Given the description of an element on the screen output the (x, y) to click on. 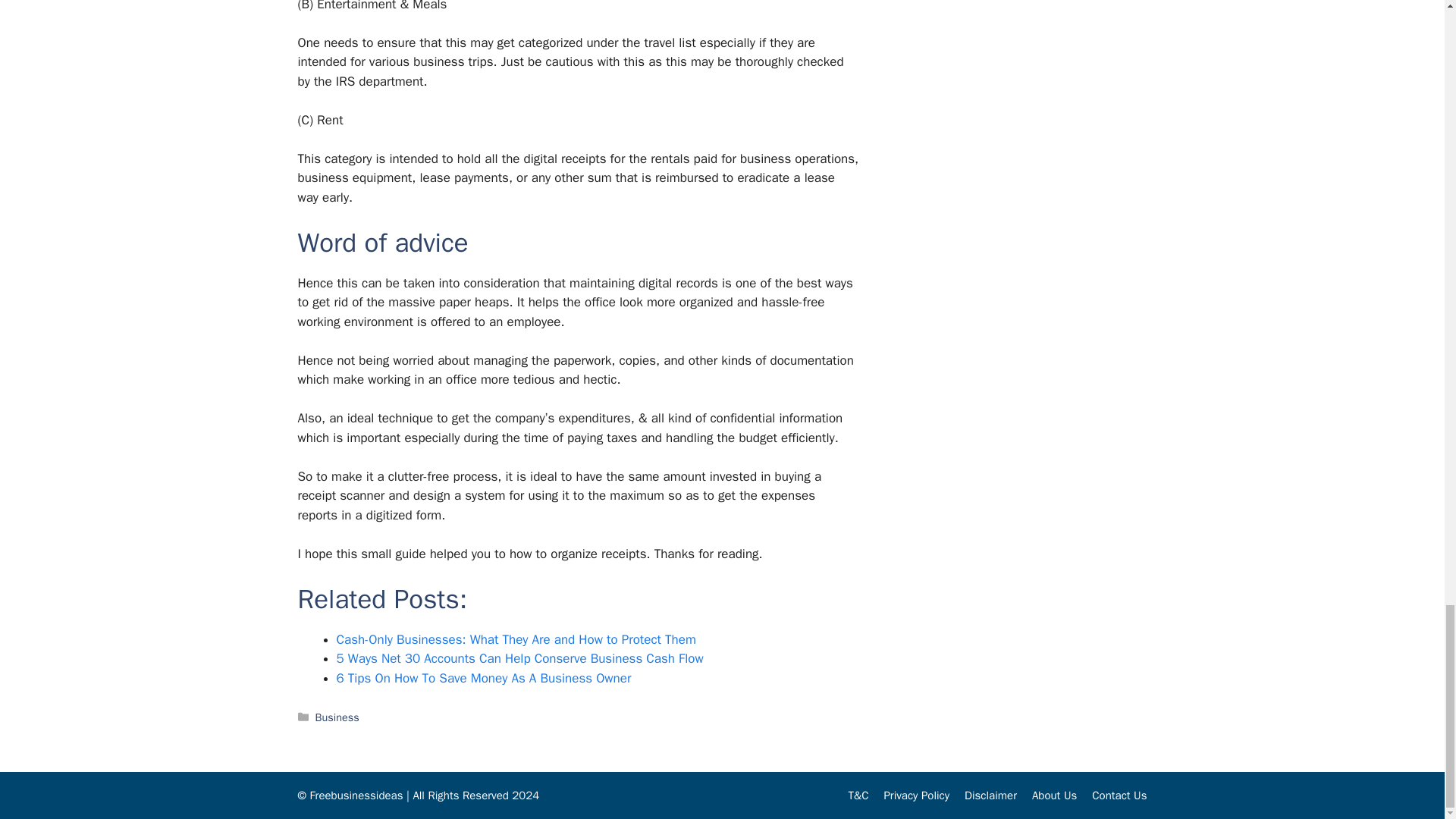
Contact Us (1119, 795)
6 Tips On How To Save Money As A Business Owner (483, 678)
Privacy Policy (916, 795)
About Us (1054, 795)
Cash-Only Businesses: What They Are and How to Protect Them (515, 639)
Business (337, 716)
5 Ways Net 30 Accounts Can Help Conserve Business Cash Flow (519, 658)
Disclaimer (989, 795)
